Given the description of an element on the screen output the (x, y) to click on. 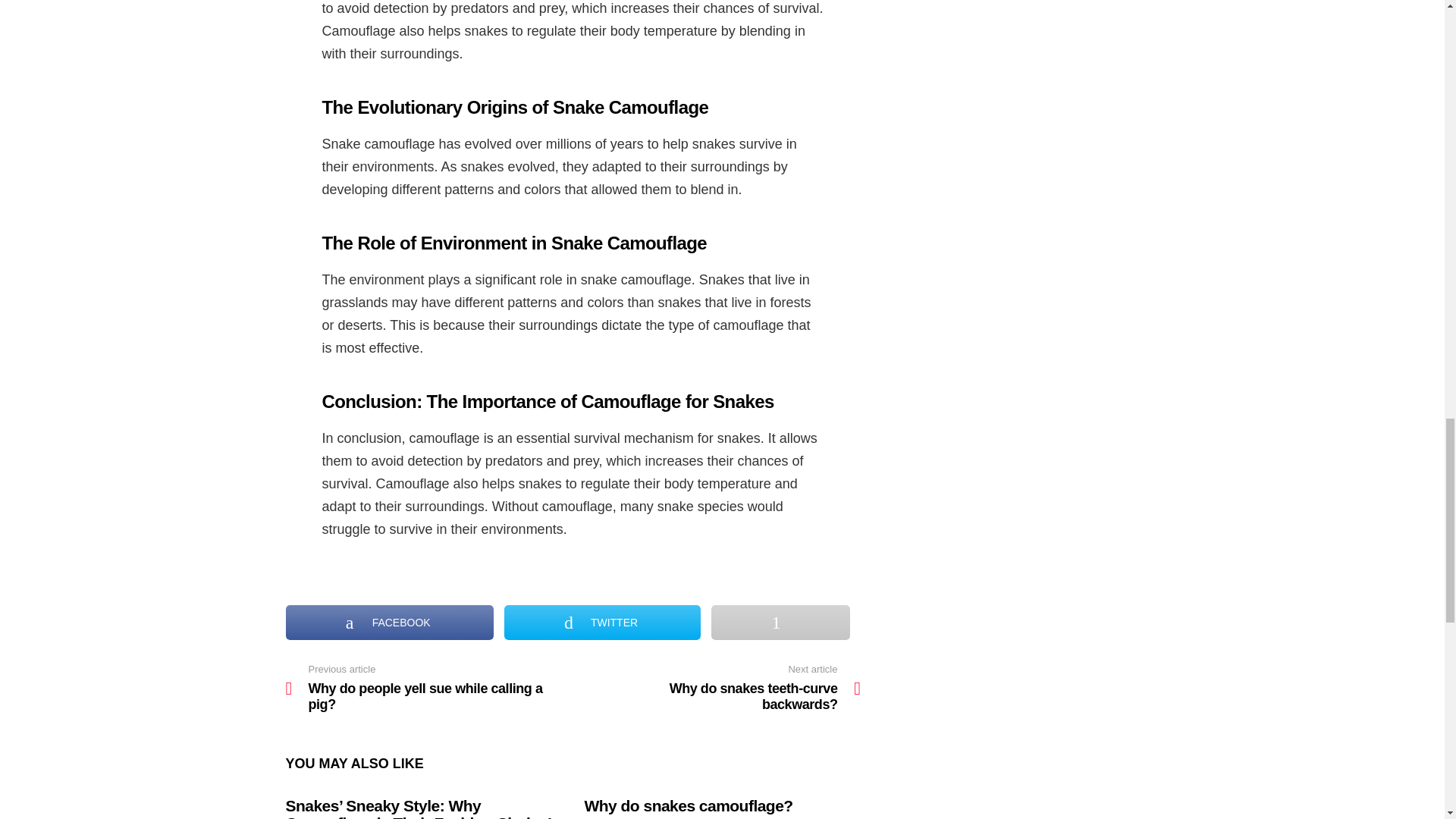
TWITTER (601, 622)
Share on Facebook (389, 622)
Share on Twitter (601, 622)
FACEBOOK (389, 622)
Share on More Button (779, 622)
